Given the description of an element on the screen output the (x, y) to click on. 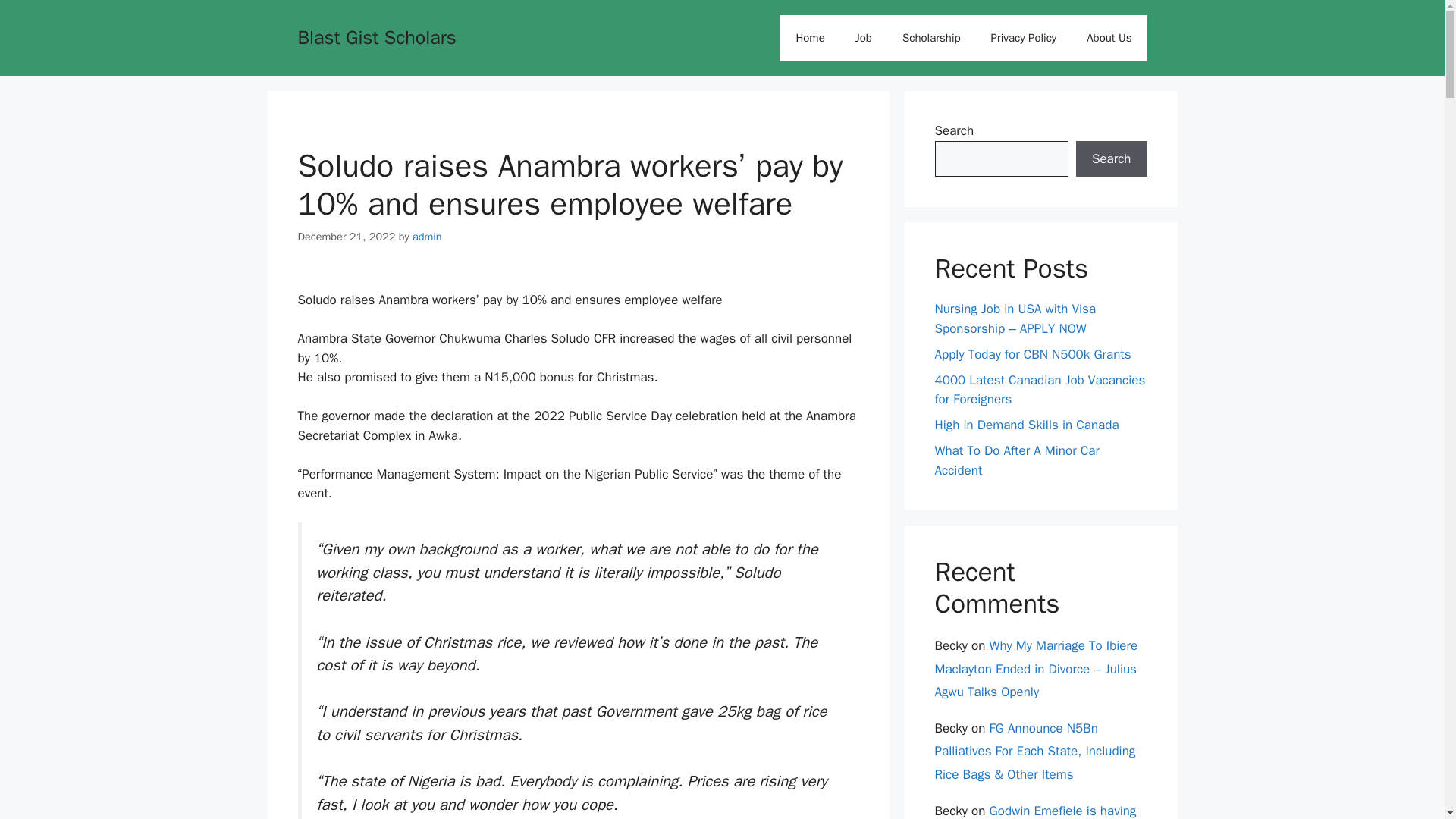
About Us (1109, 37)
4000 Latest Canadian Job Vacancies for Foreigners (1039, 389)
Apply Today for CBN N500k Grants (1032, 353)
High in Demand Skills in Canada (1026, 424)
admin (427, 236)
Job (863, 37)
What To Do After A Minor Car Accident (1016, 460)
Home (810, 37)
Scholarship (930, 37)
Privacy Policy (1023, 37)
Search (1111, 158)
View all posts by admin (427, 236)
Blast Gist Scholars (376, 37)
